Given the description of an element on the screen output the (x, y) to click on. 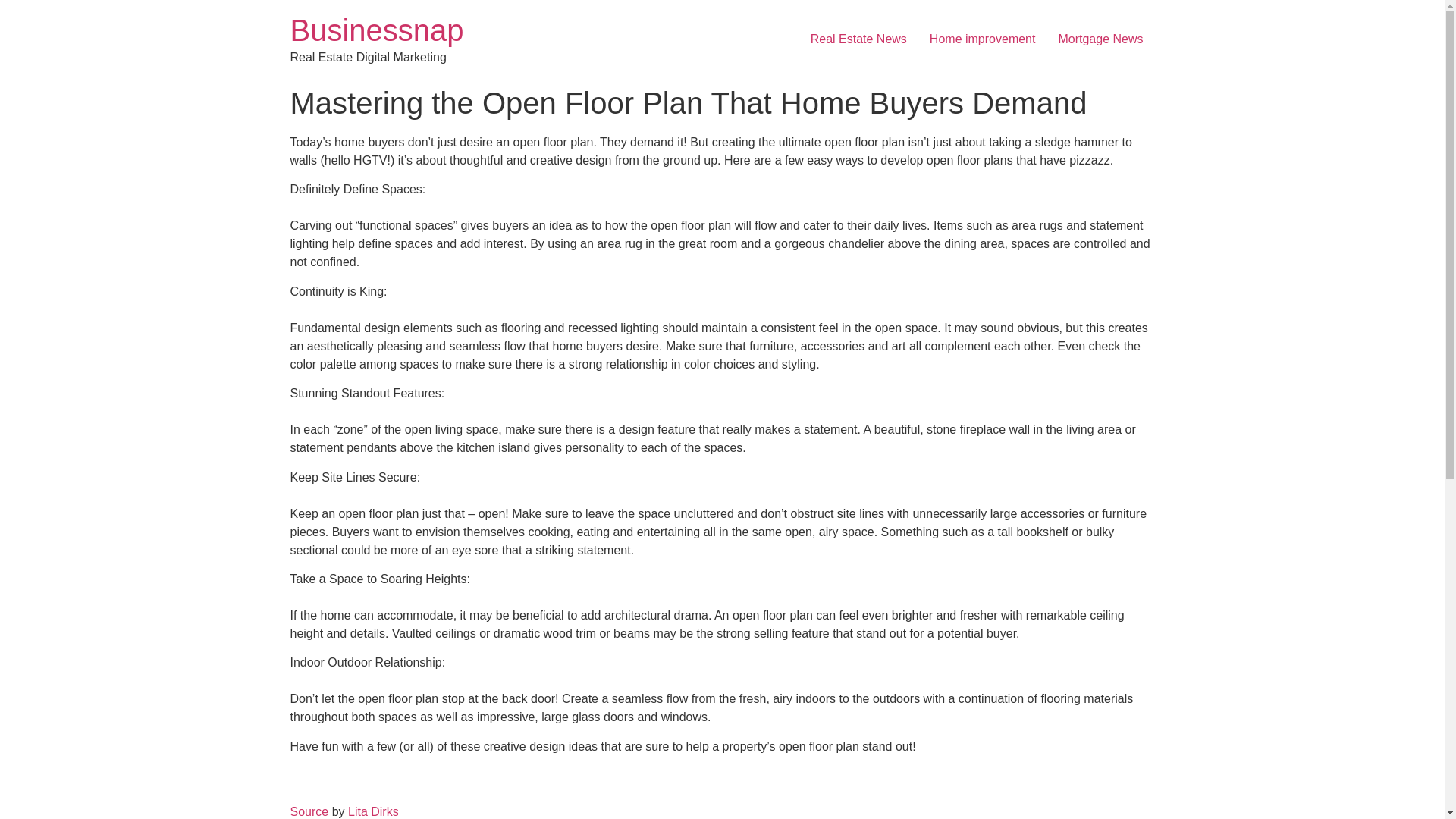
Home (376, 29)
Source (309, 811)
Real Estate News (858, 39)
Lita Dirks (372, 811)
Mortgage News (1100, 39)
Home improvement (982, 39)
Businessnap (376, 29)
